Given the description of an element on the screen output the (x, y) to click on. 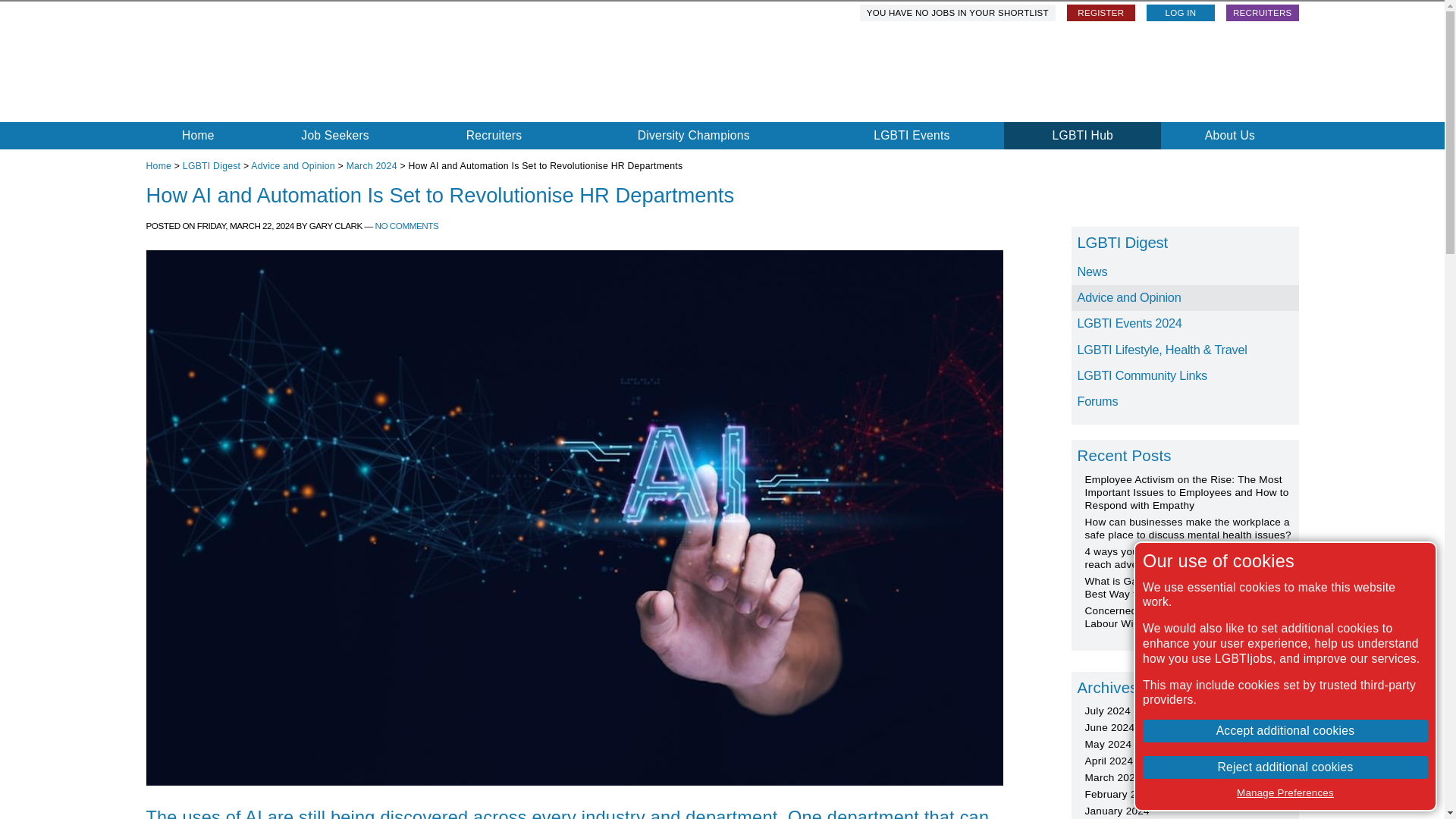
LGBTI Hub (1082, 135)
Home (158, 165)
Accept additional cookies (1285, 730)
LOG IN (1180, 12)
RECRUITERS (1261, 12)
Job Seekers (335, 135)
News (1184, 272)
Home (197, 135)
Advice and Opinion (292, 165)
LGBTI Community Links (1184, 376)
Recruiters (493, 135)
Manage Preferences (1284, 792)
About Us (1229, 135)
Diversity Champions (693, 135)
NO COMMENTS (407, 225)
